Given the description of an element on the screen output the (x, y) to click on. 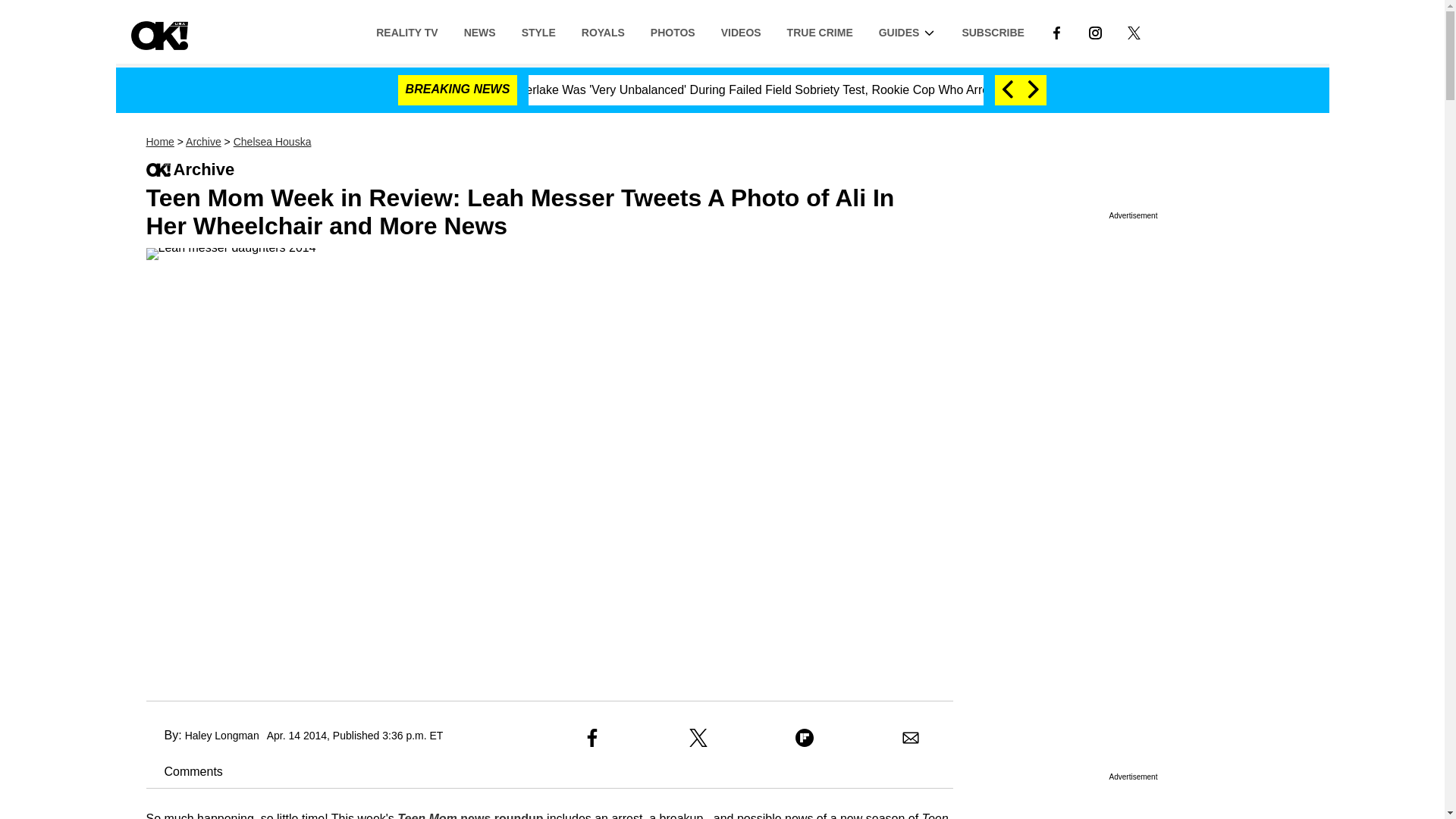
LINK TO FACEBOOK (1055, 31)
SUBSCRIBE (992, 31)
Share to Flipboard (803, 737)
REALITY TV (405, 31)
Share to Facebook (590, 737)
Chelsea Houska (271, 141)
LINK TO INSTAGRAM (1095, 32)
Link to X (1134, 31)
LINK TO INSTAGRAM (1095, 31)
PHOTOS (672, 31)
